Given the description of an element on the screen output the (x, y) to click on. 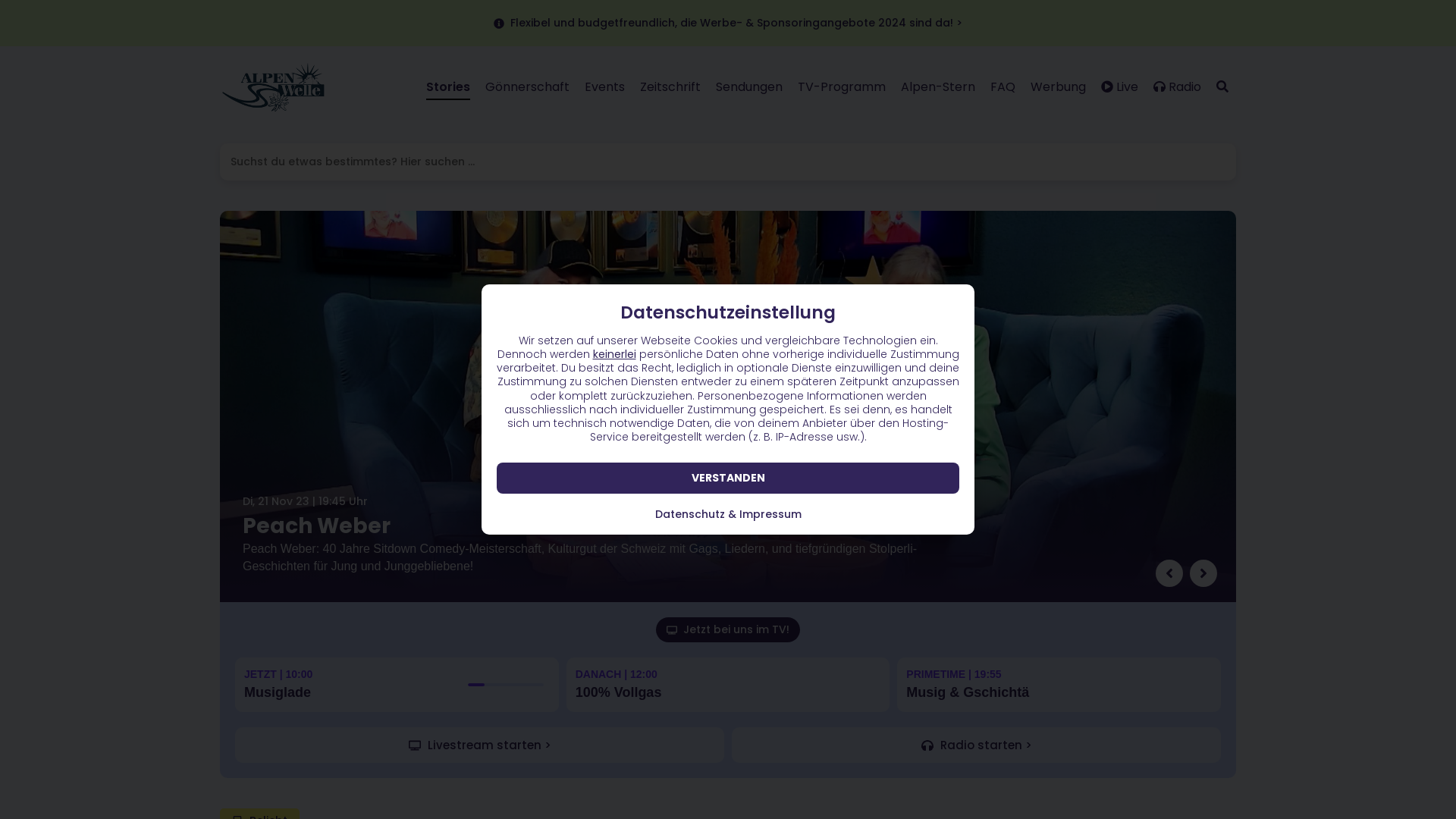
Events Element type: text (604, 86)
Datenschutz & Impressum Element type: text (728, 513)
Stories Element type: text (447, 86)
Alpen-Stern Element type: text (937, 86)
Zeitschrift Element type: text (670, 86)
VERSTANDEN Element type: text (727, 477)
Live Element type: text (1119, 86)
DANACH | 12:00
100% Vollgas Element type: text (728, 684)
Livestream starten > Element type: text (478, 744)
Radio Element type: text (1176, 86)
Sendungen Element type: text (749, 86)
Radio starten > Element type: text (975, 744)
Werbung Element type: text (1057, 86)
TV-Programm Element type: text (841, 86)
JETZT | 10:00
Musiglade Element type: text (396, 684)
FAQ Element type: text (1002, 86)
